Given the description of an element on the screen output the (x, y) to click on. 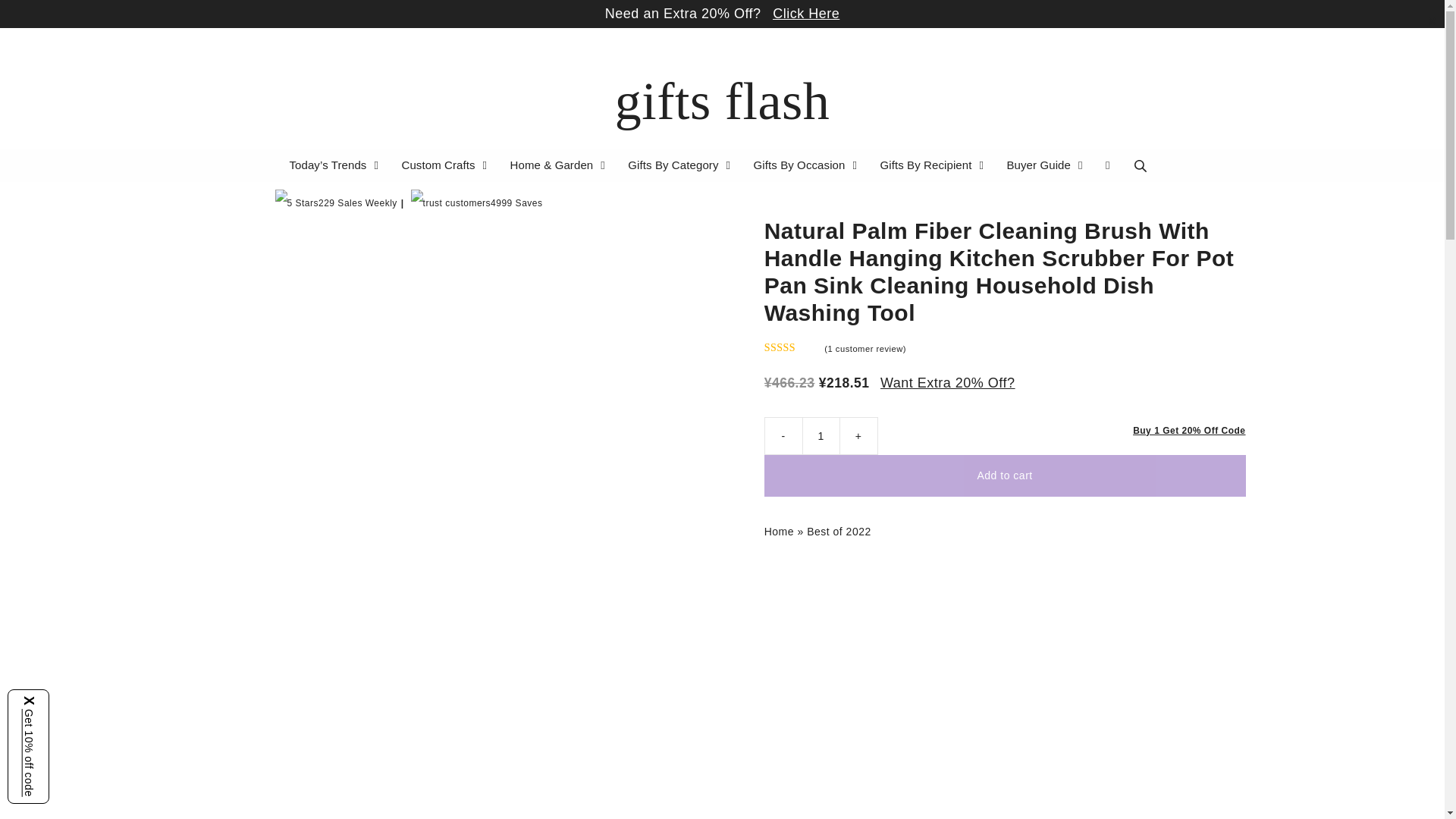
Custom Crafts (445, 164)
Rated 5.00 out of 5 (793, 347)
gifts flash (721, 101)
1 (821, 435)
Click Here (806, 13)
